Given the description of an element on the screen output the (x, y) to click on. 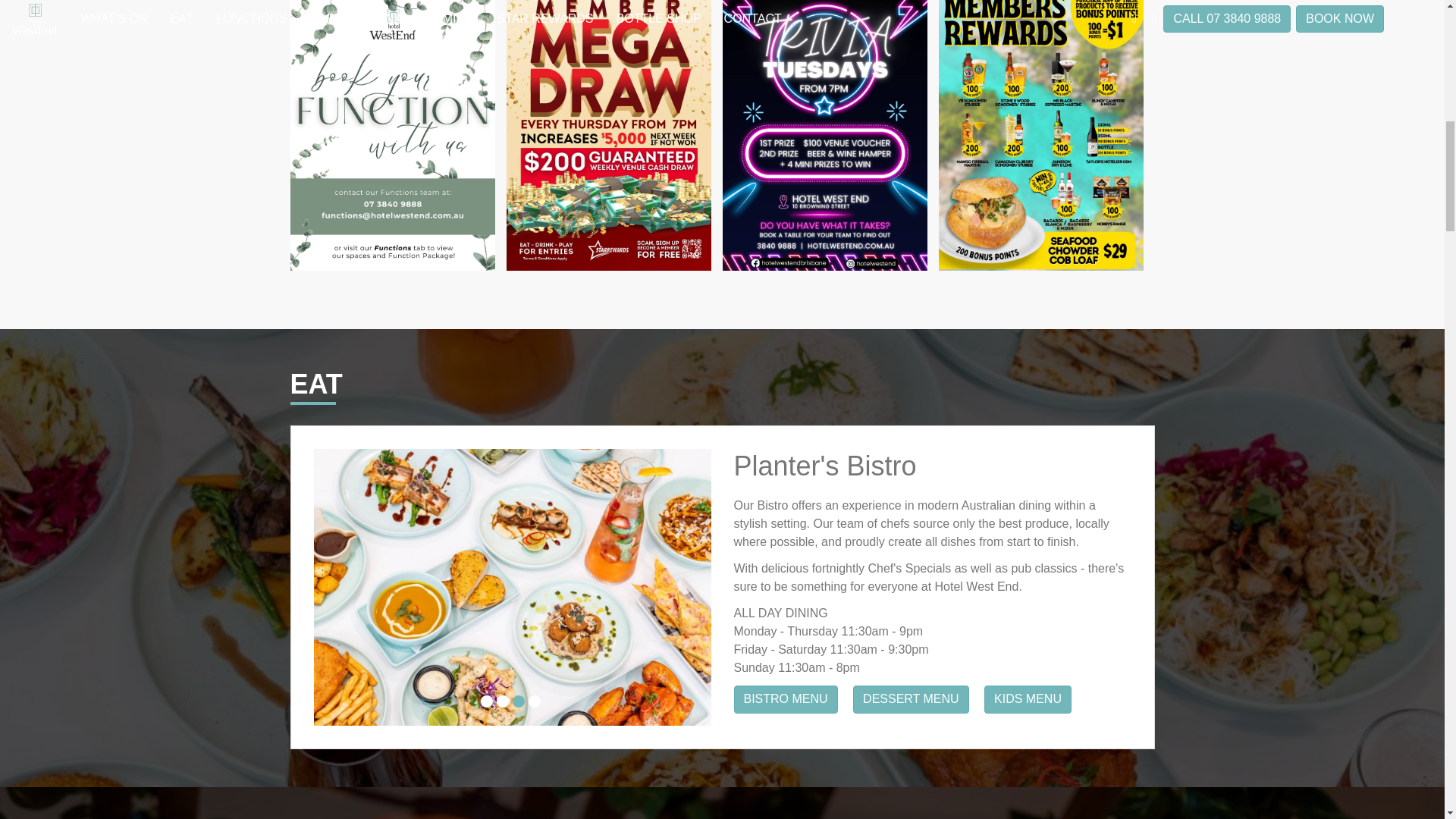
BISTRO MENU (785, 699)
KIDS MENU (1027, 699)
DESSERT MENU (911, 699)
